Given the description of an element on the screen output the (x, y) to click on. 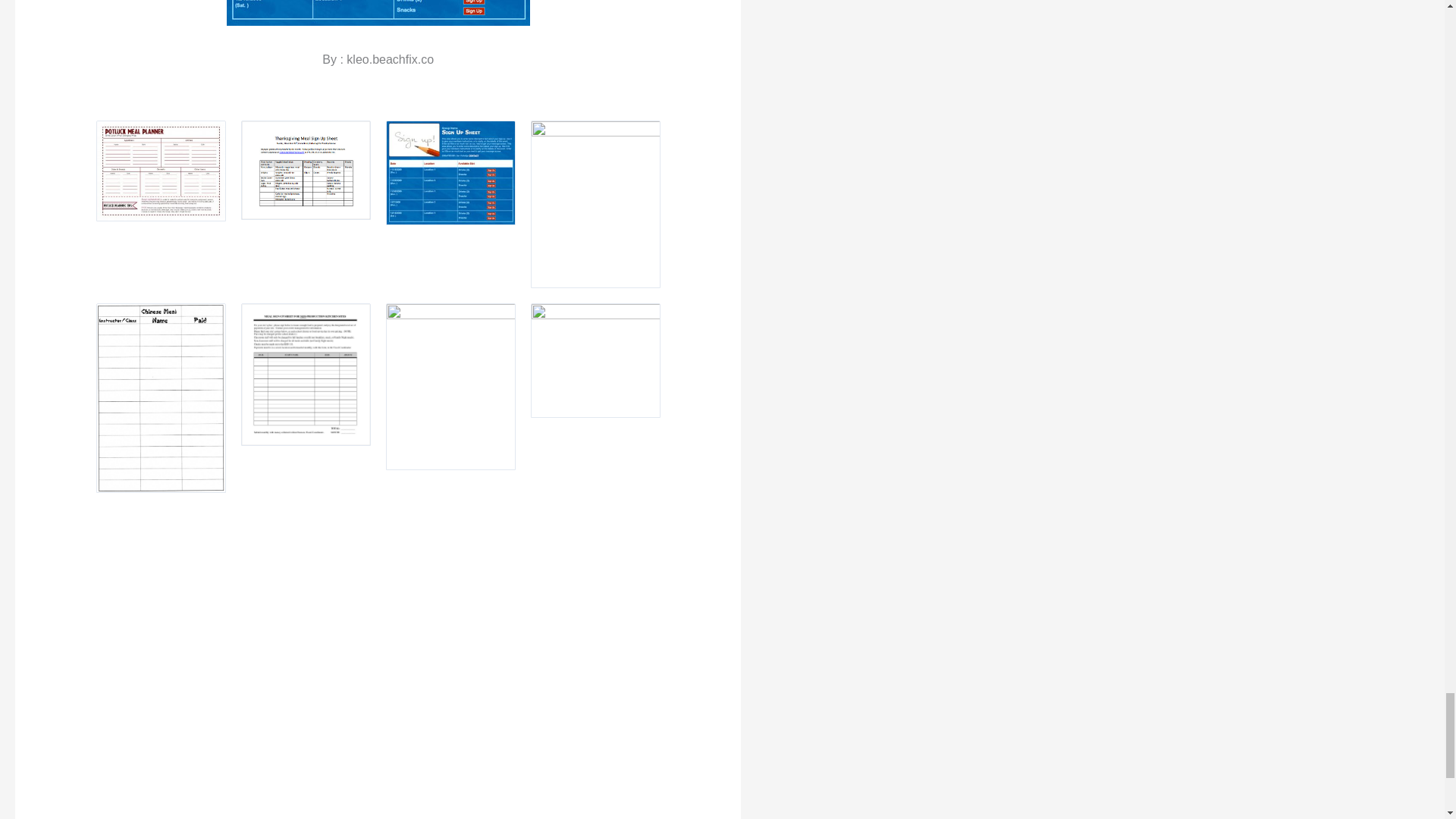
sign up sheet for food   Kleo.beachfix.co (378, 12)
